Given the description of an element on the screen output the (x, y) to click on. 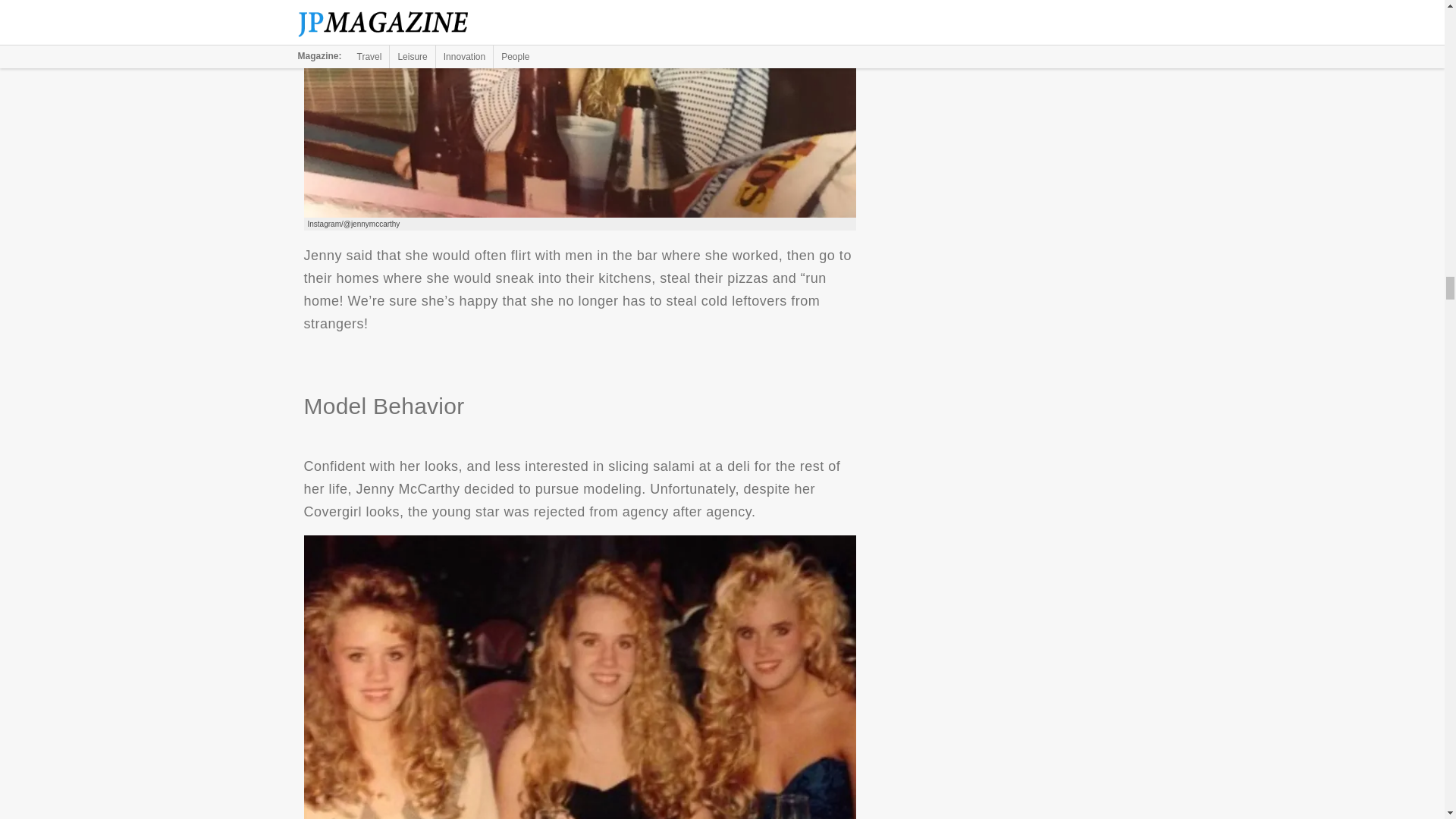
Struggling to Make Ends Meet (579, 108)
